Given the description of an element on the screen output the (x, y) to click on. 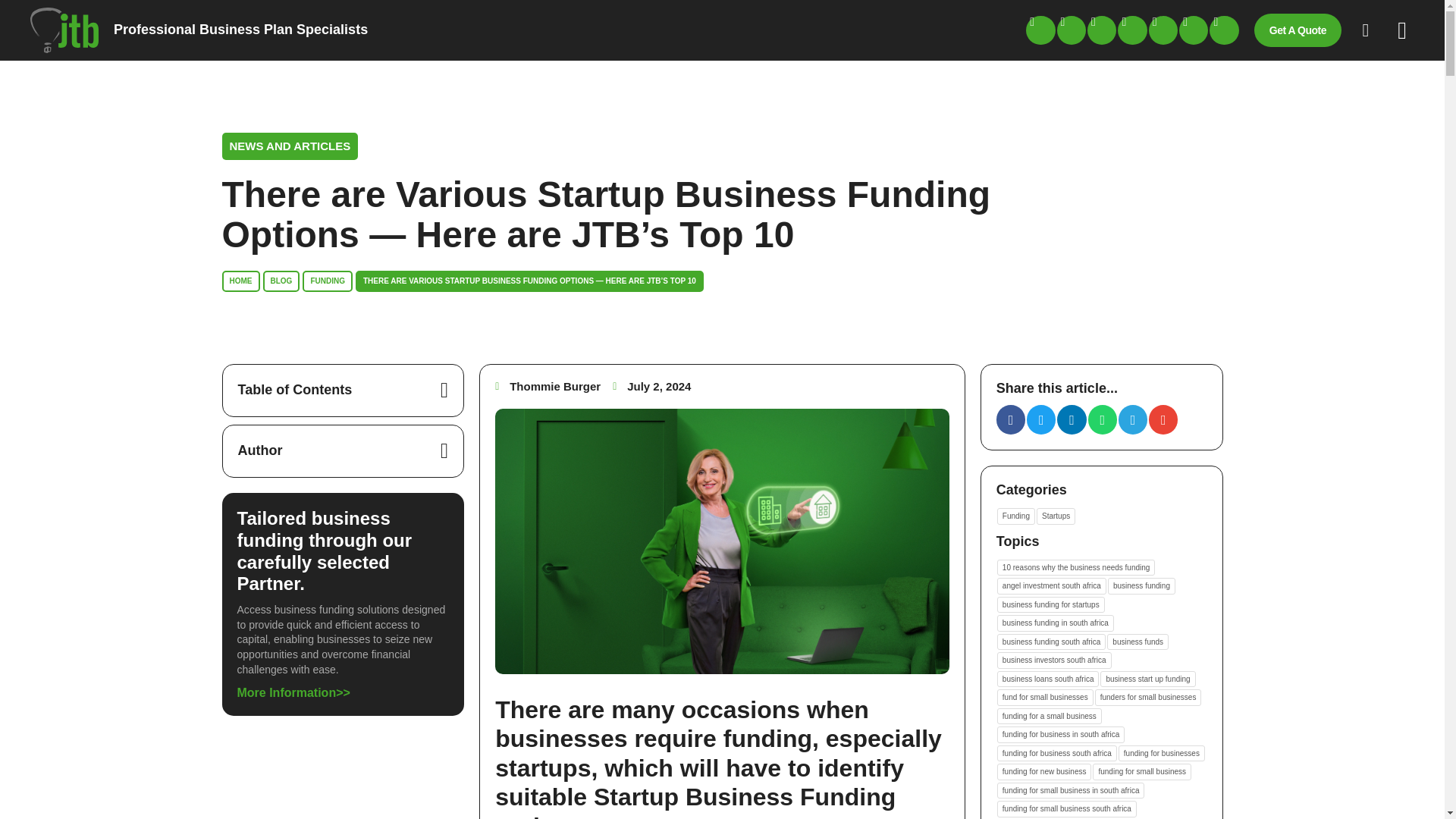
Blog (280, 281)
Funding (327, 281)
Home (240, 281)
BLOG (280, 281)
FUNDING (327, 281)
Get A Quote (1304, 32)
HOME (240, 281)
